Given the description of an element on the screen output the (x, y) to click on. 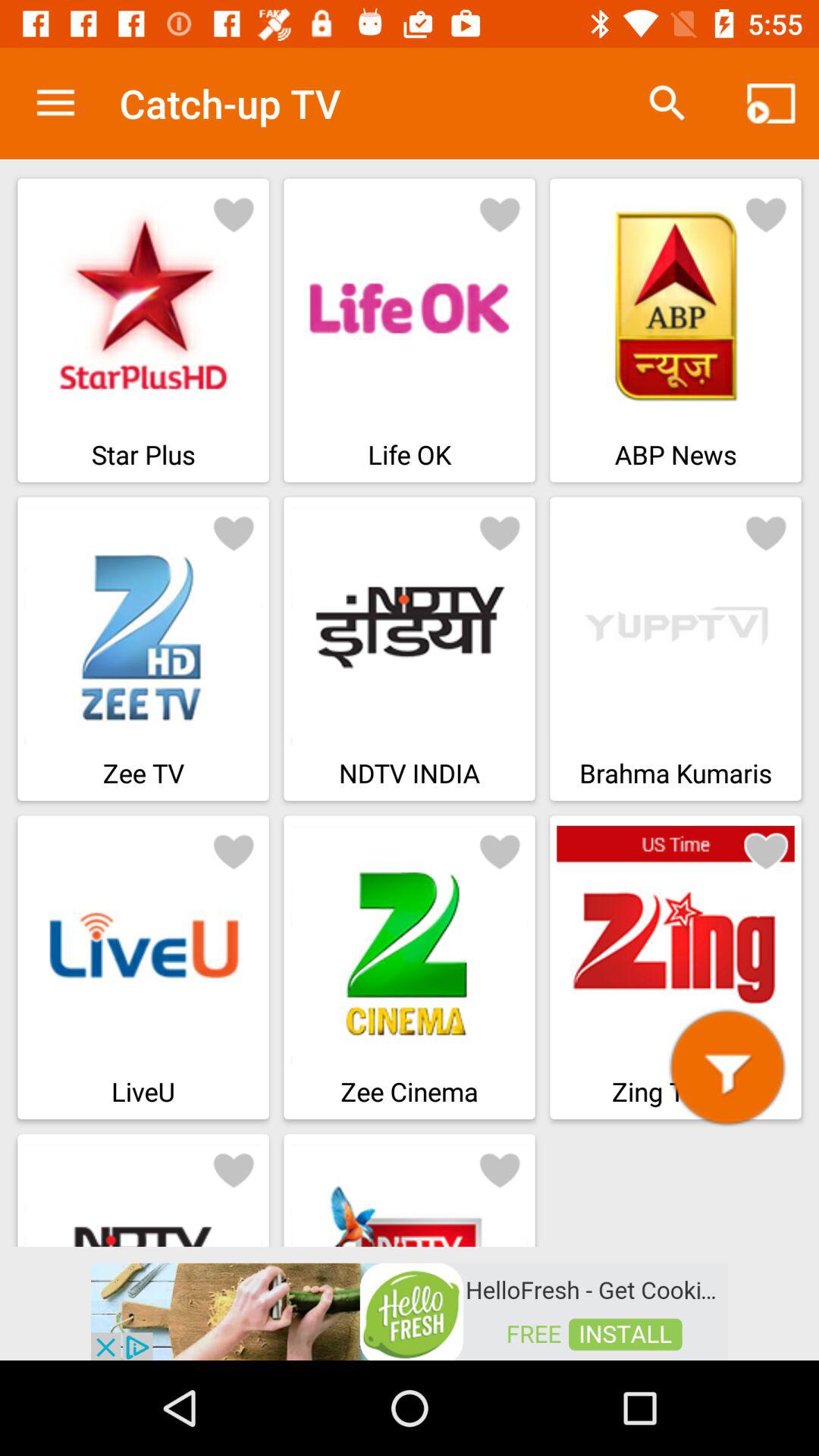
add favorite (766, 850)
